Given the description of an element on the screen output the (x, y) to click on. 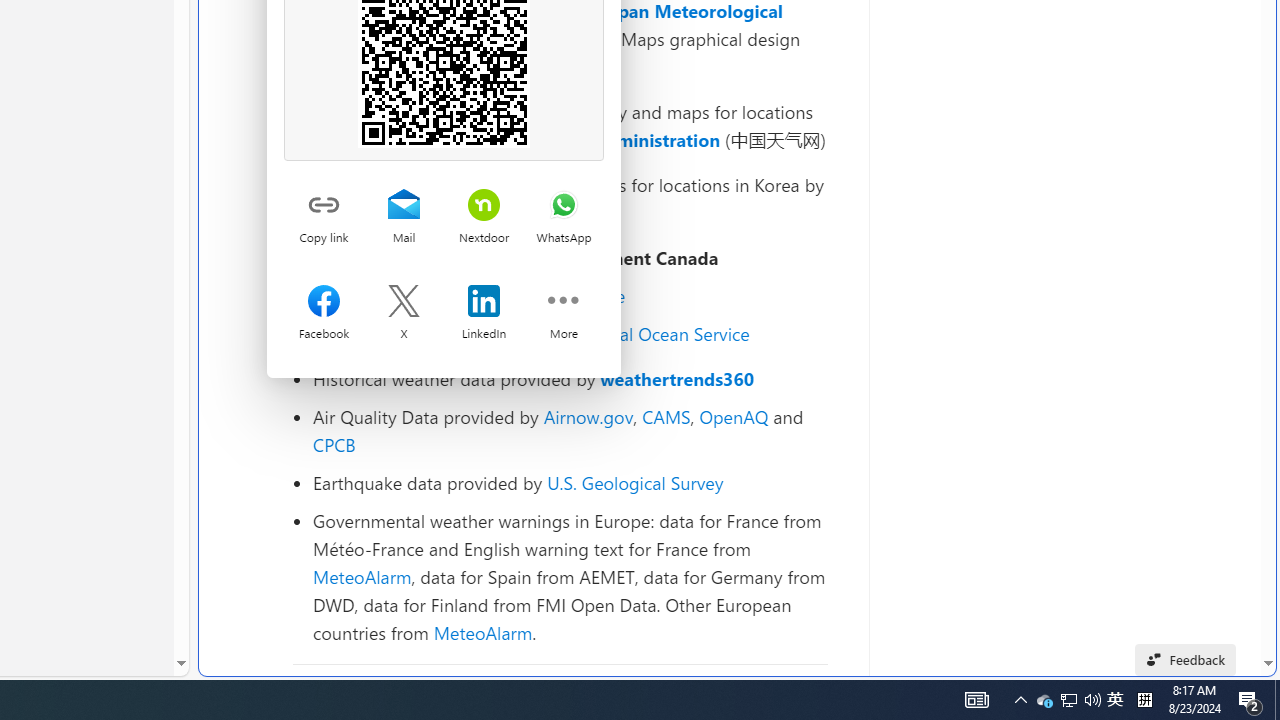
Share on facebook (324, 303)
OpenAQ (733, 416)
MeteoAlarm (482, 632)
Share on X (403, 303)
More share options (563, 303)
Earthquake data provided by U.S. Geological Survey (570, 482)
U.S. Geological Survey (635, 482)
Copy link (324, 206)
Share on Nextdoor (484, 206)
CAMS (666, 416)
Kweather (352, 212)
Nowcast.de (578, 295)
Share on whatsapp (563, 206)
